Given the description of an element on the screen output the (x, y) to click on. 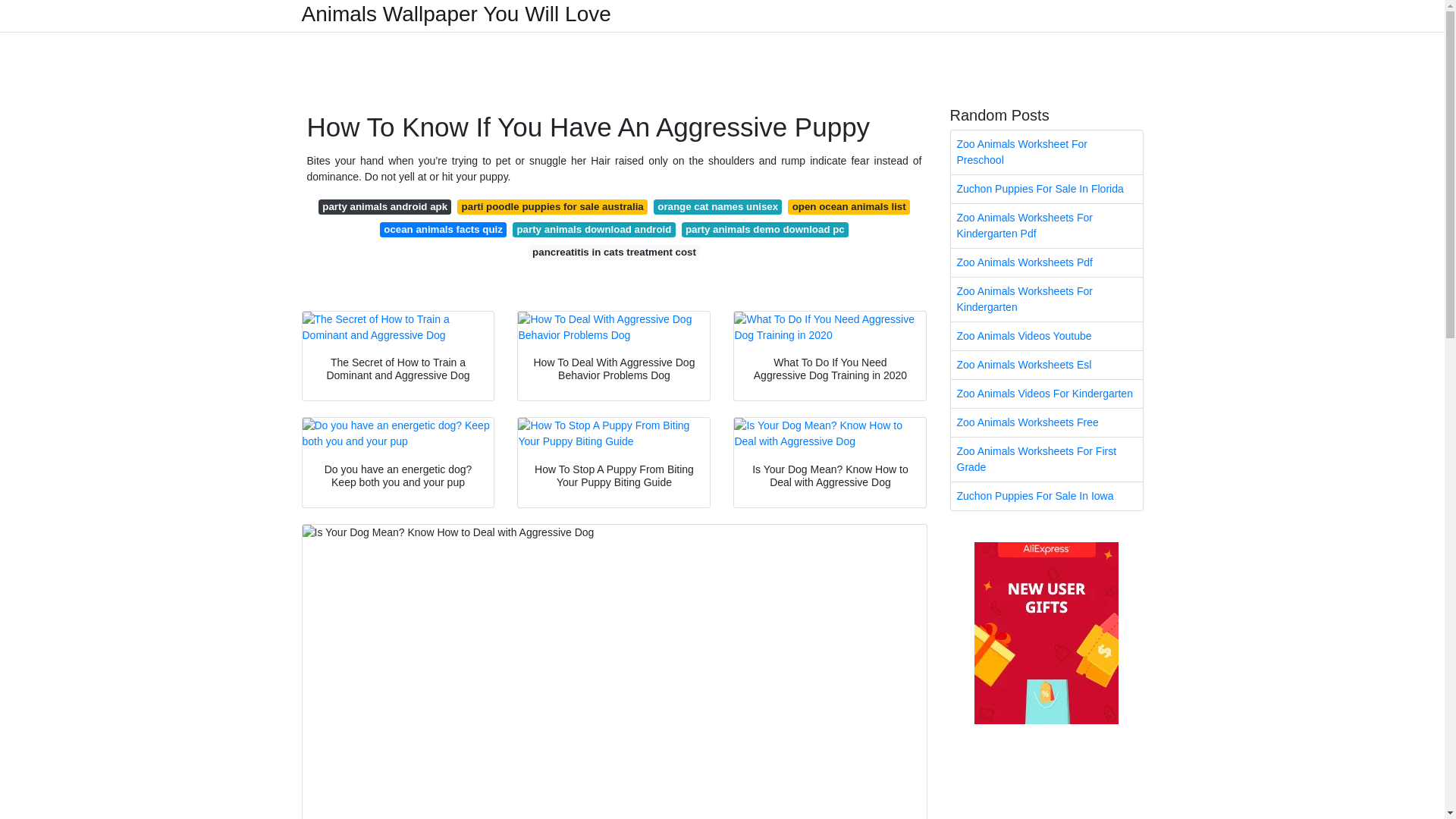
Zoo Animals Worksheets Esl (1046, 365)
Zoo Animals Worksheets For Kindergarten Pdf (1046, 225)
pancreatitis in cats treatment cost (614, 252)
party animals android apk (384, 206)
orange cat names unisex (718, 206)
parti poodle puppies for sale australia (552, 206)
Zoo Animals Worksheets Free (1046, 422)
Zuchon Puppies For Sale In Florida (1046, 189)
open ocean animals list (848, 206)
Zoo Animals Worksheets For Kindergarten (1046, 299)
Zoo Animals Videos Youtube (1046, 336)
party animals download android (593, 229)
ocean animals facts quiz (443, 229)
Zoo Animals Videos For Kindergarten (1046, 393)
Animals Wallpaper You Will Love (456, 13)
